Given the description of an element on the screen output the (x, y) to click on. 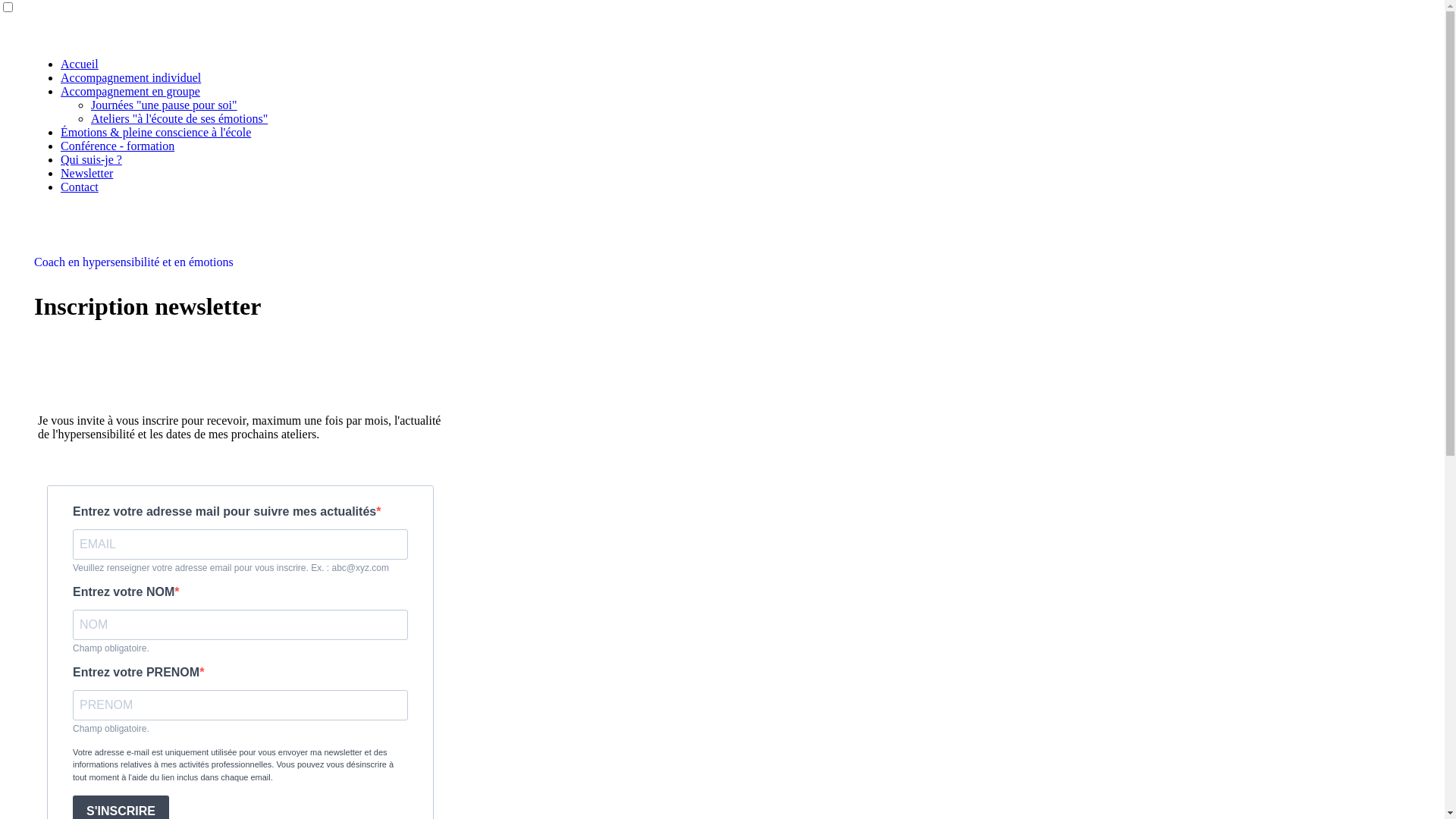
Contact Element type: text (79, 186)
Newsletter Element type: text (86, 172)
Qui suis-je ? Element type: text (91, 159)
Accompagnement en groupe Element type: text (130, 90)
Accompagnement individuel Element type: text (130, 77)
Accueil Element type: text (79, 63)
